Given the description of an element on the screen output the (x, y) to click on. 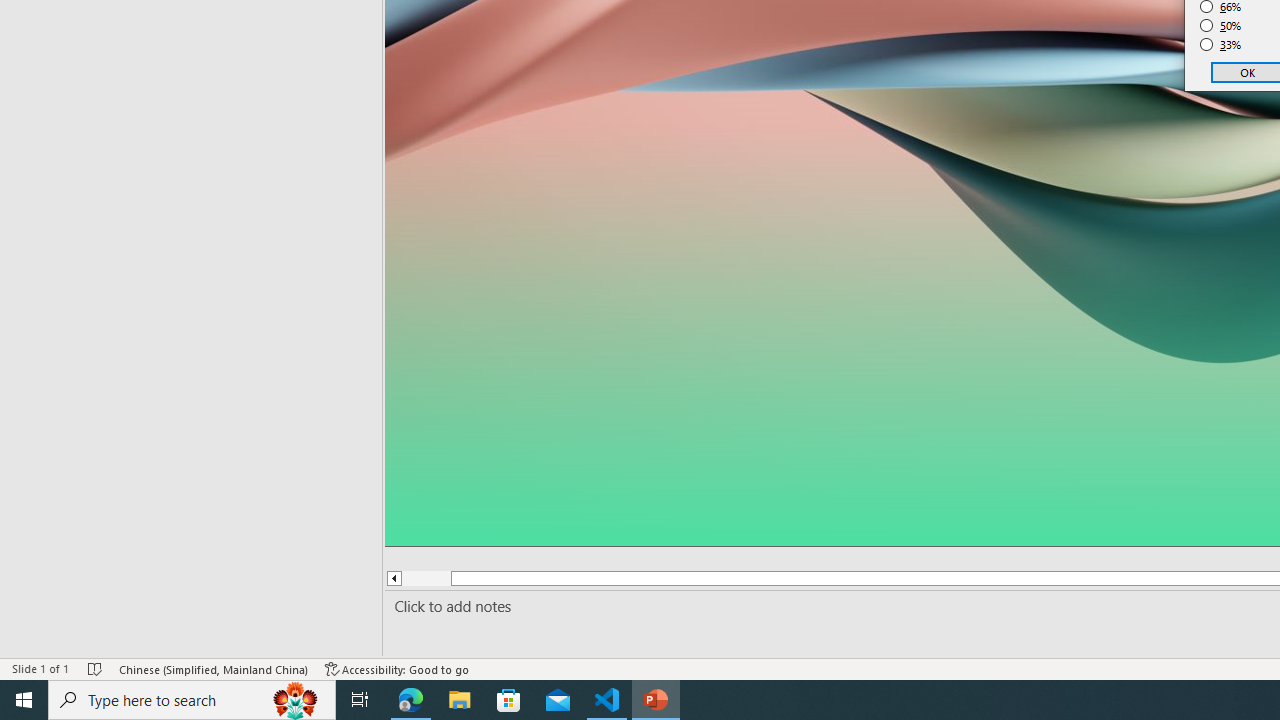
Microsoft Edge - 1 running window (411, 699)
